Given the description of an element on the screen output the (x, y) to click on. 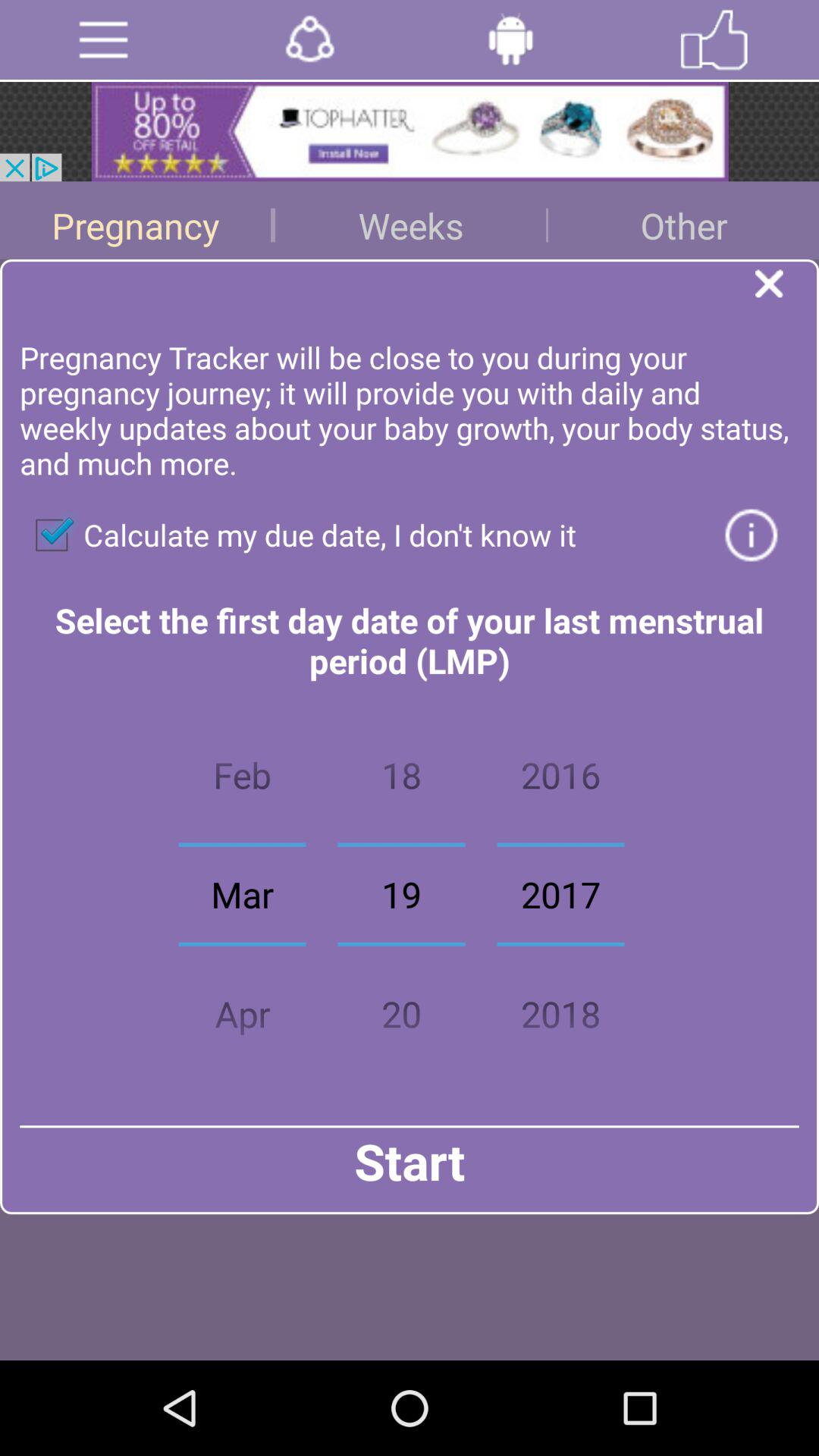
exit the window (787, 288)
